Given the description of an element on the screen output the (x, y) to click on. 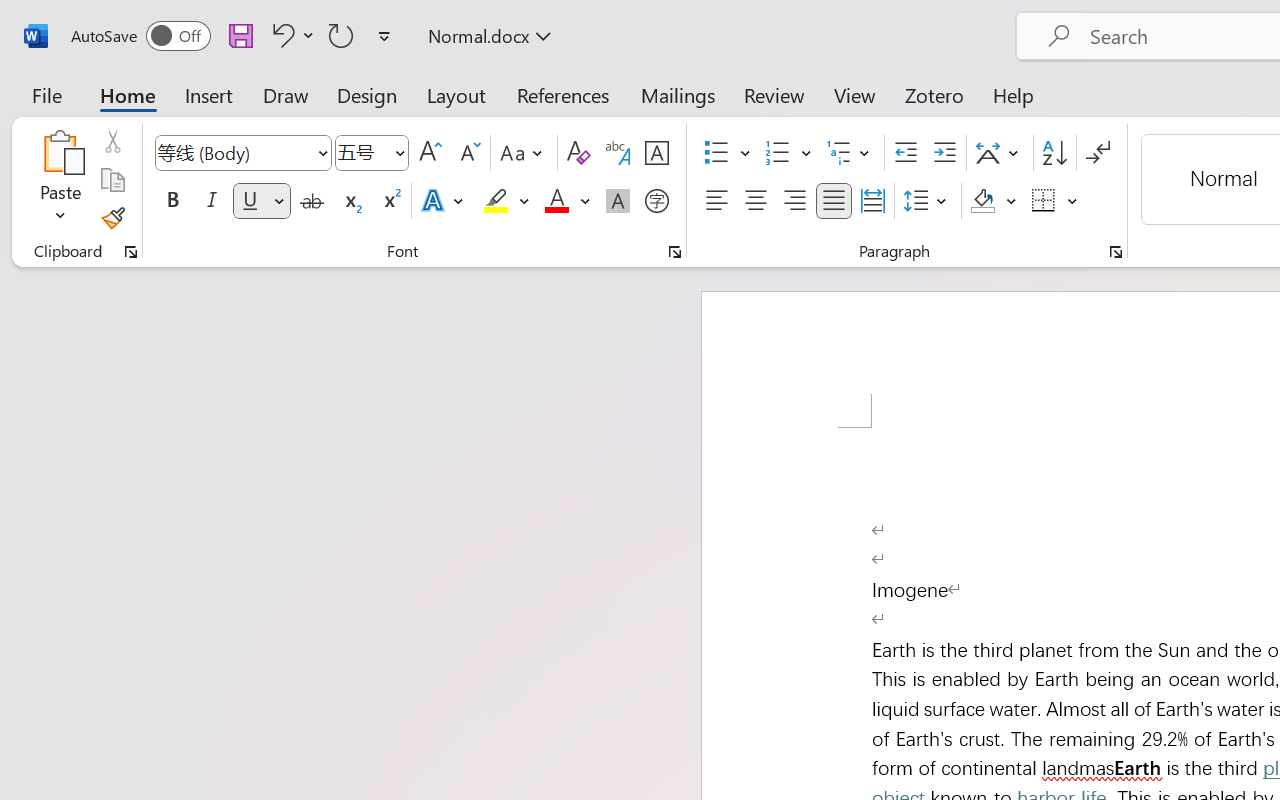
Increase Indent (944, 153)
Font... (675, 252)
Copy (112, 179)
Align Right (794, 201)
Font Color (567, 201)
Format Painter (112, 218)
Decrease Indent (906, 153)
Italic (212, 201)
Office Clipboard... (131, 252)
